Given the description of an element on the screen output the (x, y) to click on. 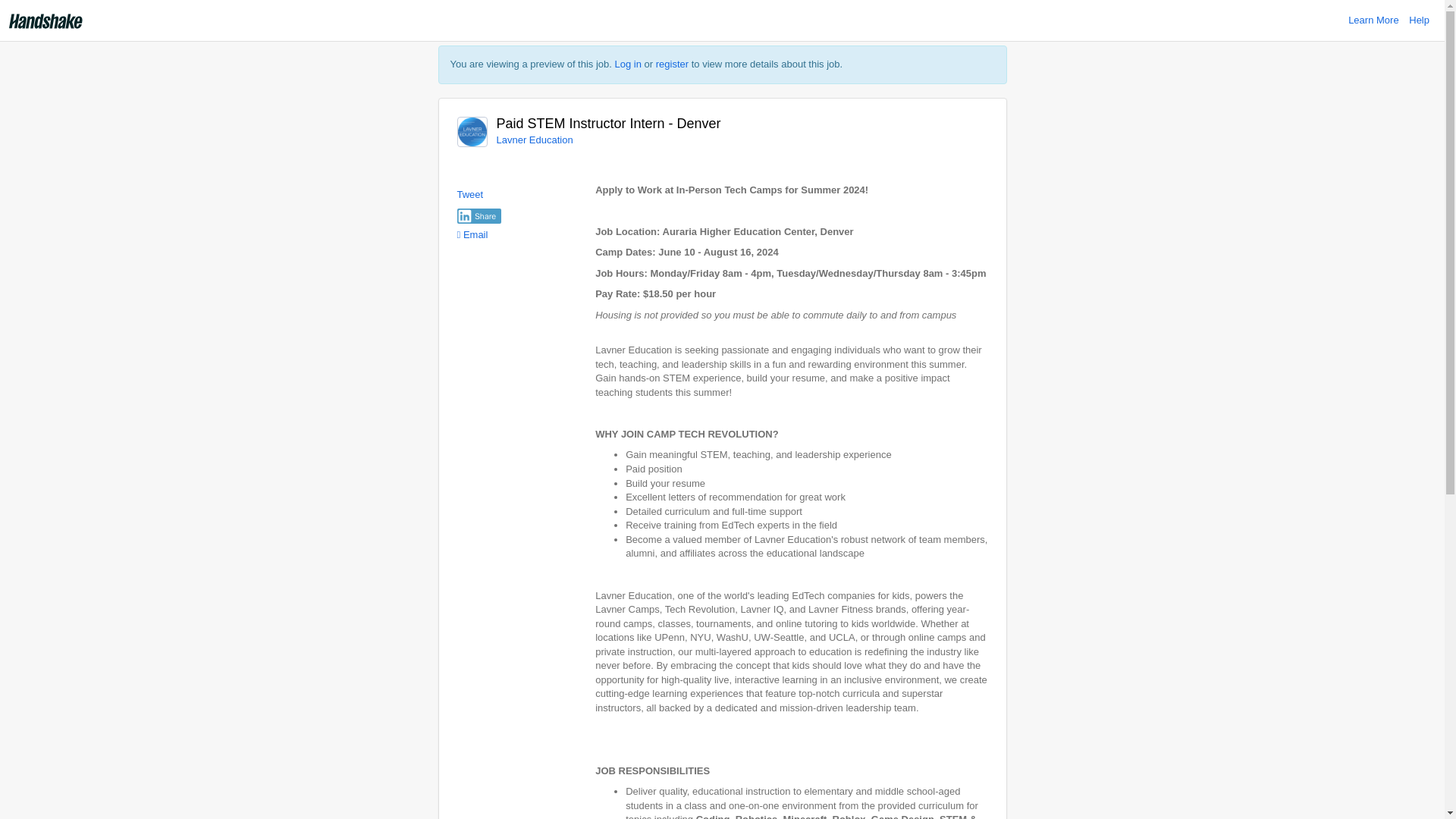
Help (1419, 19)
Share (478, 215)
Share by Email (472, 234)
Email (472, 234)
Log in (628, 63)
Tweet (470, 194)
Lavner Education (534, 139)
Learn More (1372, 19)
register (672, 63)
